Given the description of an element on the screen output the (x, y) to click on. 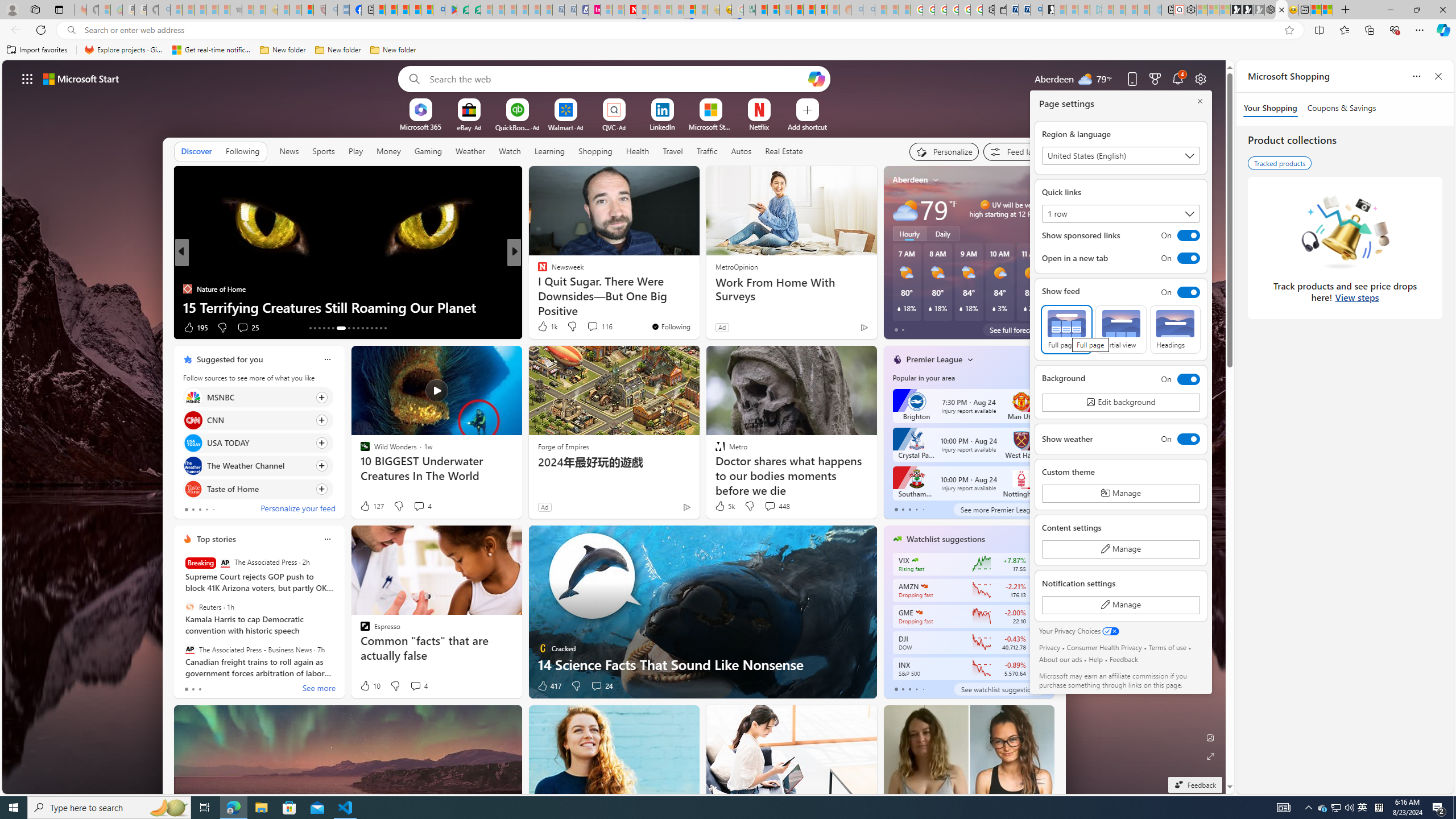
Sports (323, 151)
AutomationID: tab-24 (366, 328)
Taste of Home (192, 488)
Microsoft rewards (1155, 78)
AutomationID: tab-42 (384, 328)
Notifications (1177, 78)
69 Like (543, 327)
More interests (969, 359)
Health (637, 151)
Shopping (595, 151)
